Given the description of an element on the screen output the (x, y) to click on. 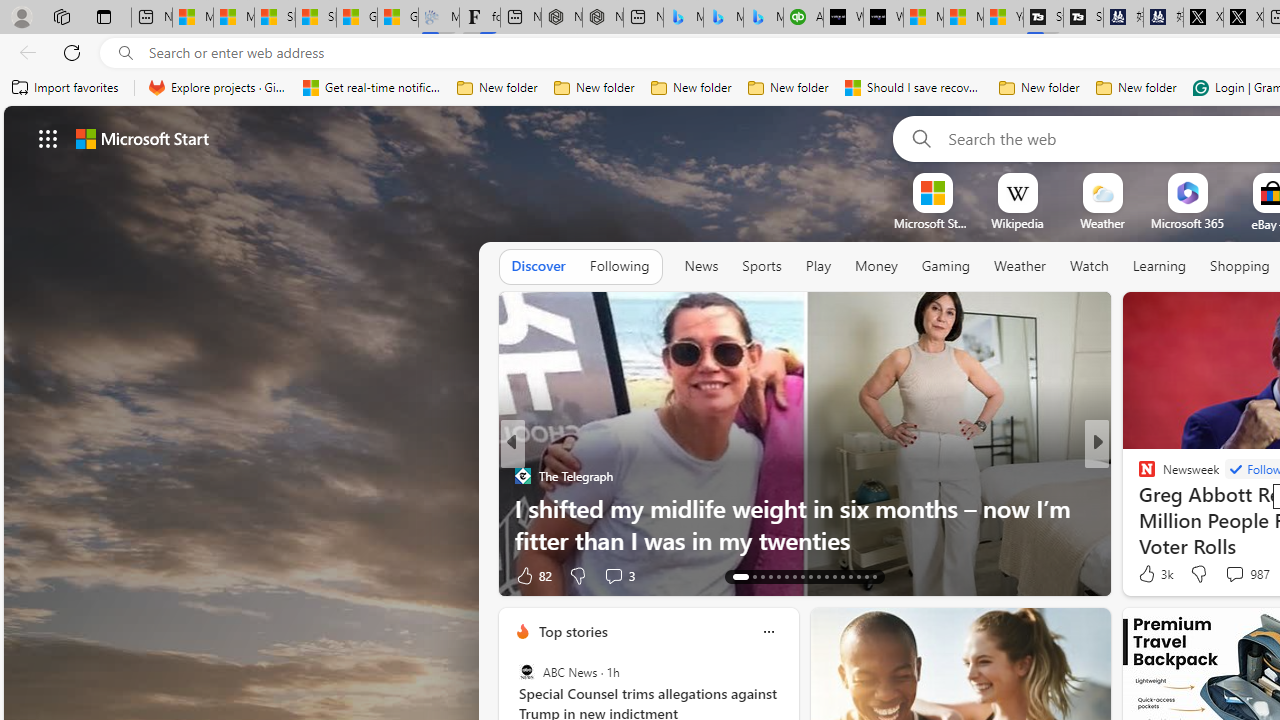
View comments 17 Comment (1244, 574)
